Given the description of an element on the screen output the (x, y) to click on. 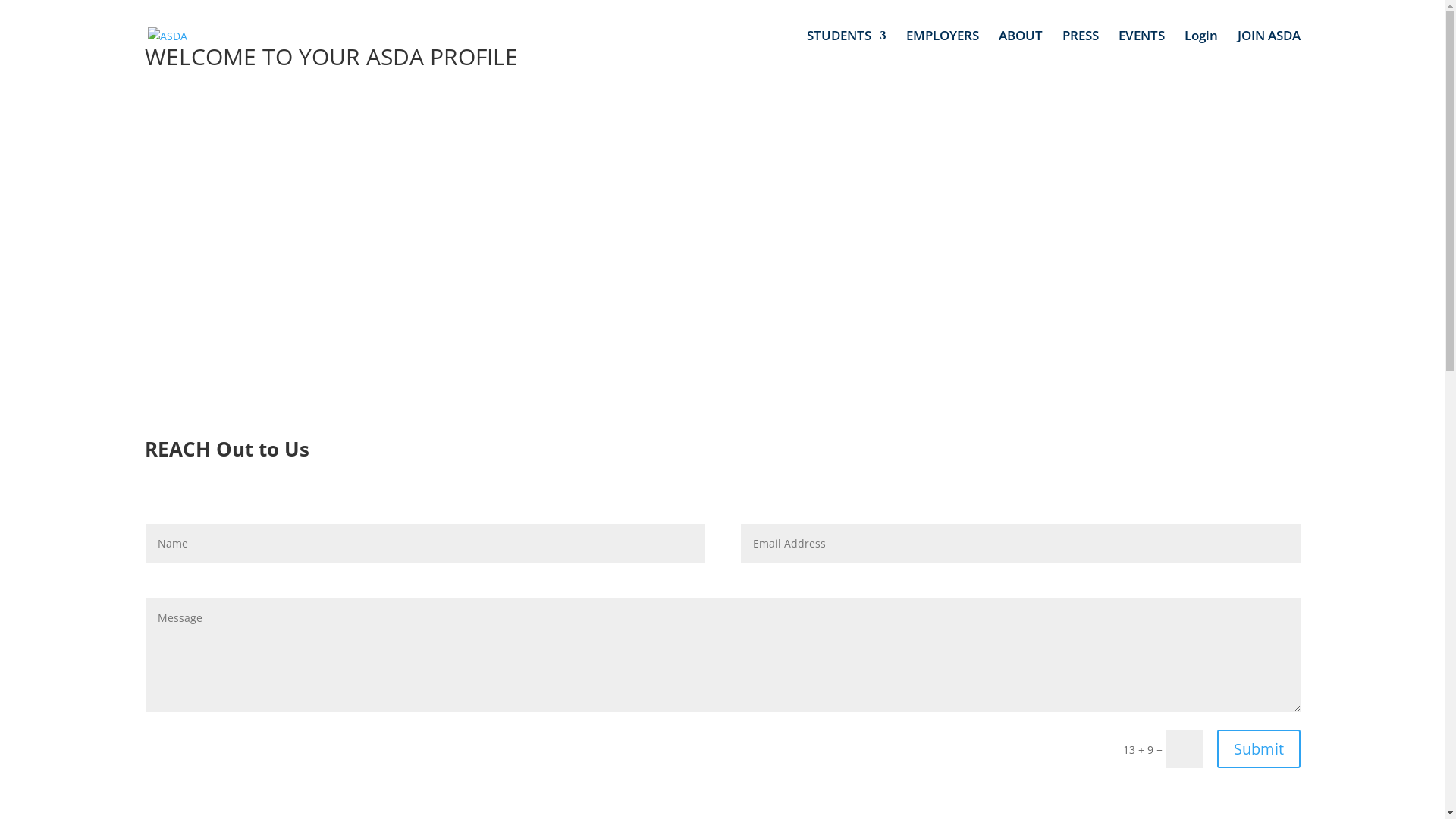
EMPLOYERS Element type: text (941, 50)
Login Element type: text (1200, 50)
ABOUT Element type: text (1019, 50)
JOIN ASDA Element type: text (1268, 50)
STUDENTS Element type: text (846, 50)
Submit Element type: text (1257, 748)
PRESS Element type: text (1079, 50)
EVENTS Element type: text (1140, 50)
